Given the description of an element on the screen output the (x, y) to click on. 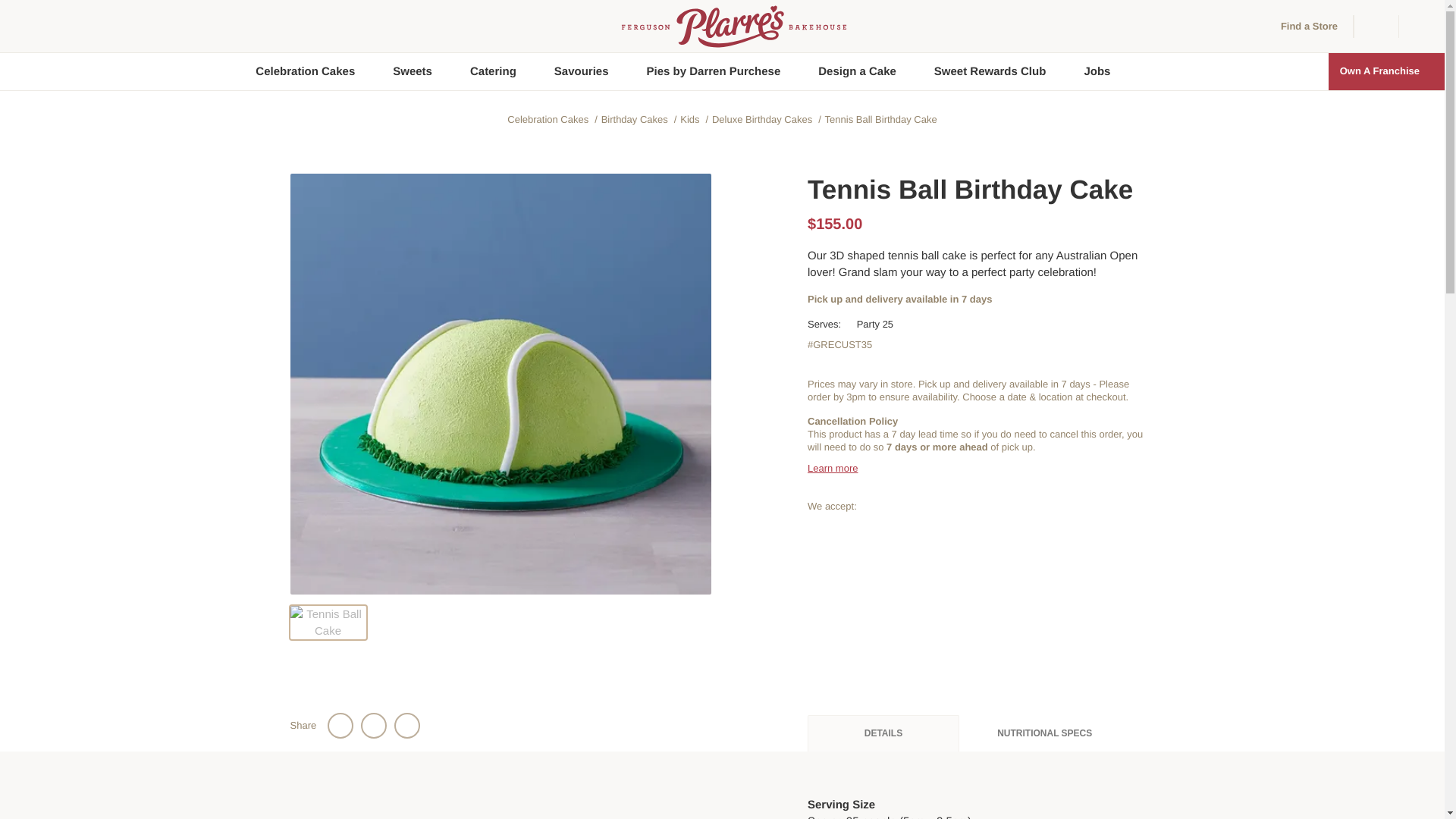
Find a Store (1302, 26)
Celebration Cakes (305, 71)
CART (1375, 26)
search (1421, 26)
Search (1421, 26)
chevron-right (1428, 71)
shopping-cart (1374, 26)
menu-location (1271, 26)
